Given the description of an element on the screen output the (x, y) to click on. 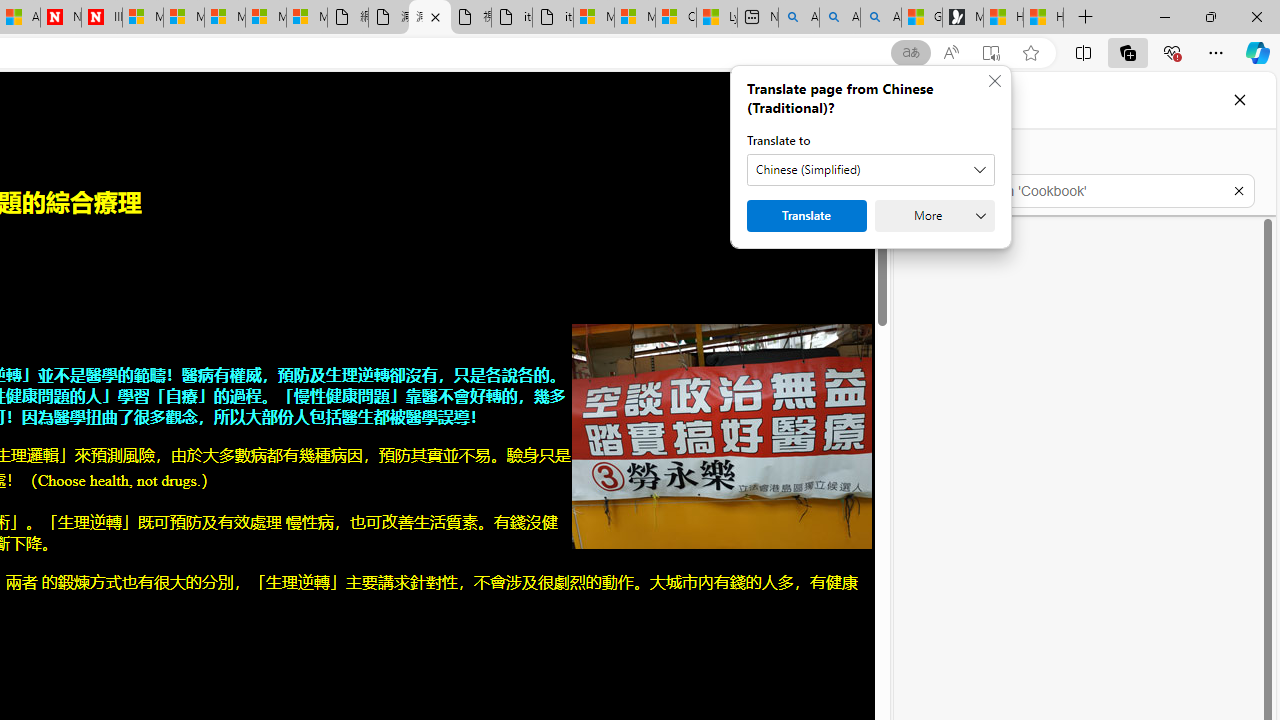
Back to list of collections (920, 158)
How to Use a TV as a Computer Monitor (1043, 17)
More (934, 215)
itconcepthk.com/projector_solutions.mp4 (552, 17)
Alabama high school quarterback dies - Search Videos (881, 17)
Illness news & latest pictures from Newsweek.com (101, 17)
